Given the description of an element on the screen output the (x, y) to click on. 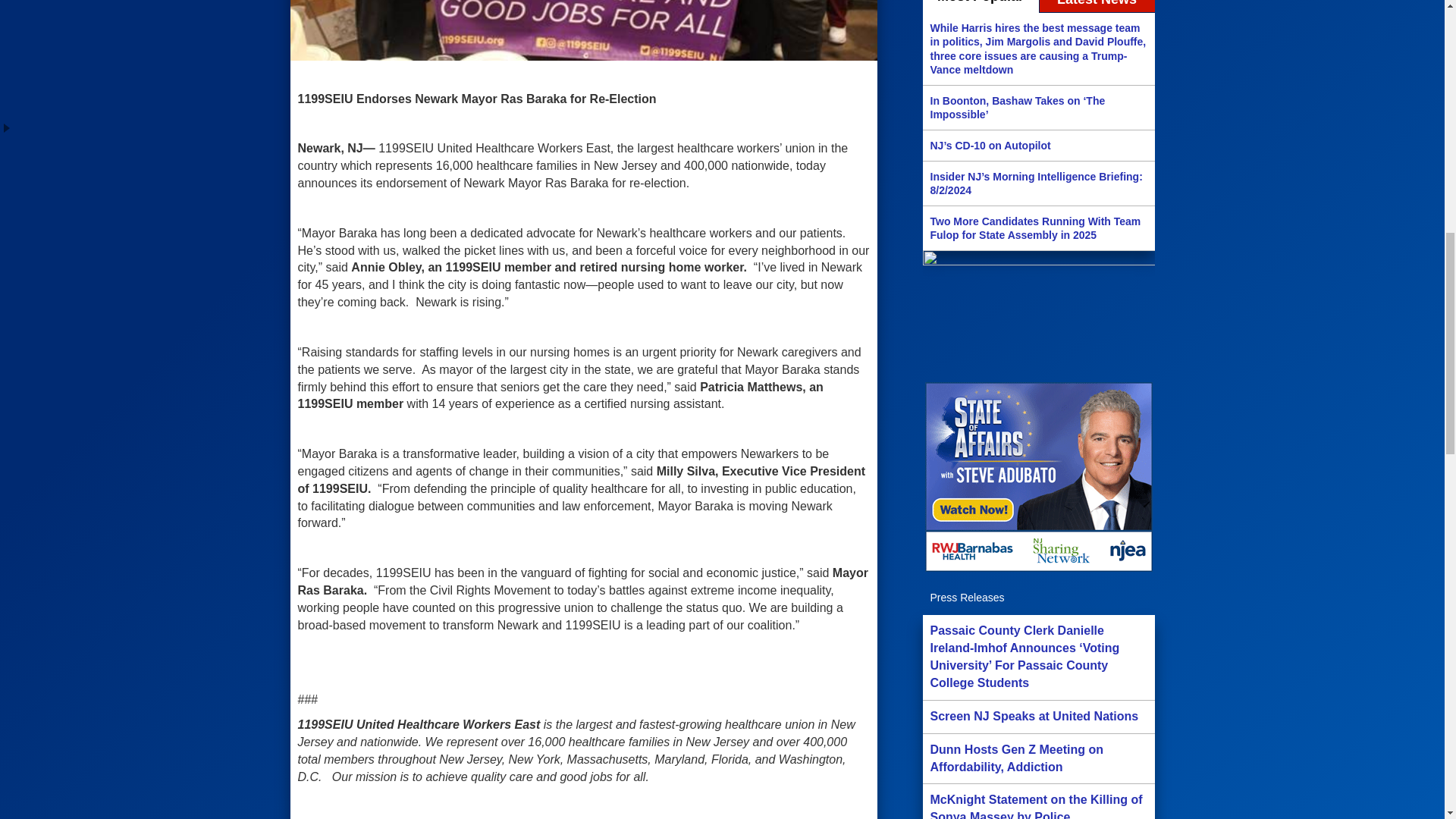
Most Popular (979, 6)
Latest News (1096, 6)
